Given the description of an element on the screen output the (x, y) to click on. 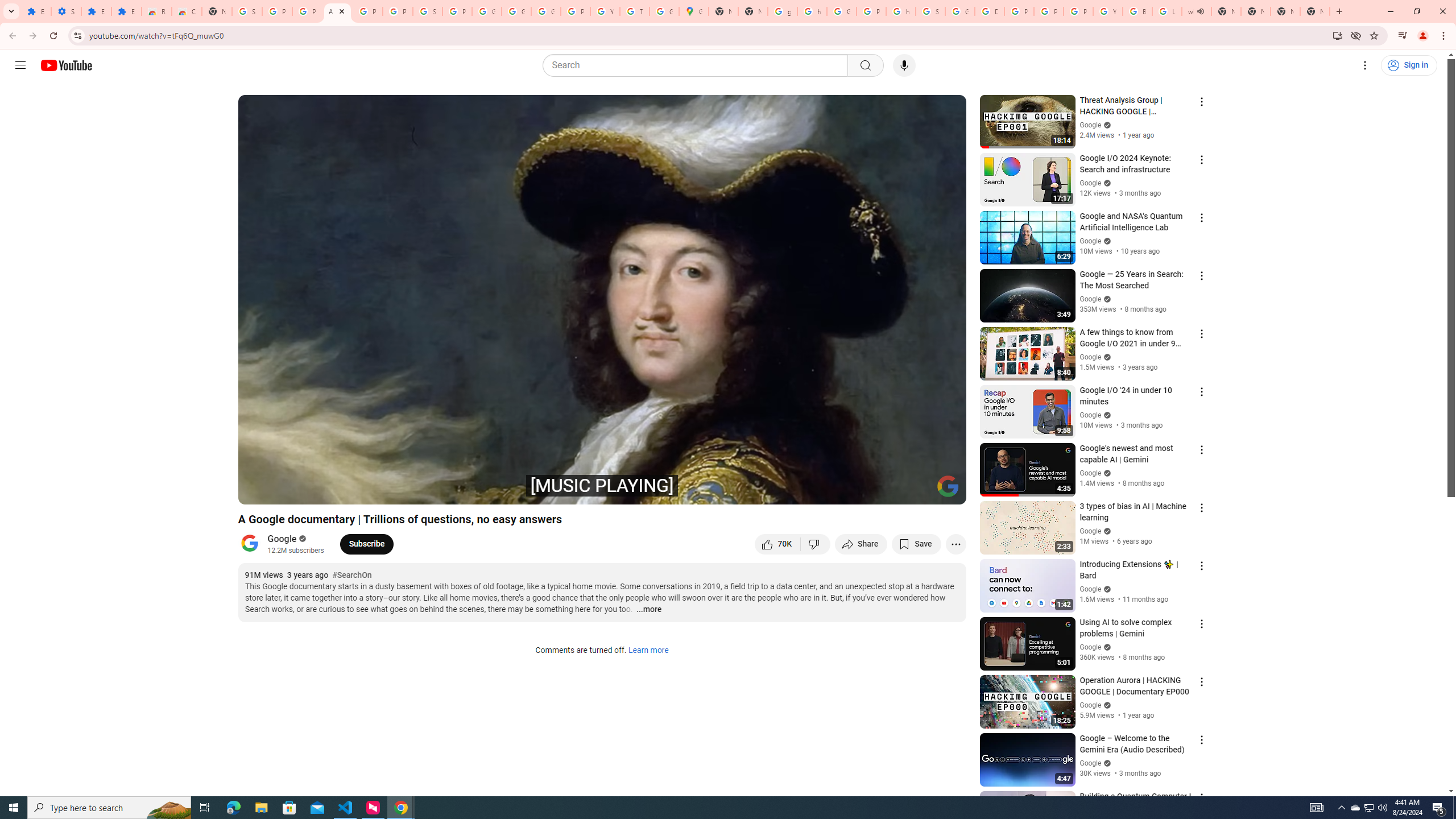
Guide (20, 65)
Miniplayer (i) (890, 490)
...more (648, 609)
Mute tab (1200, 10)
Extensions (36, 11)
